Given the description of an element on the screen output the (x, y) to click on. 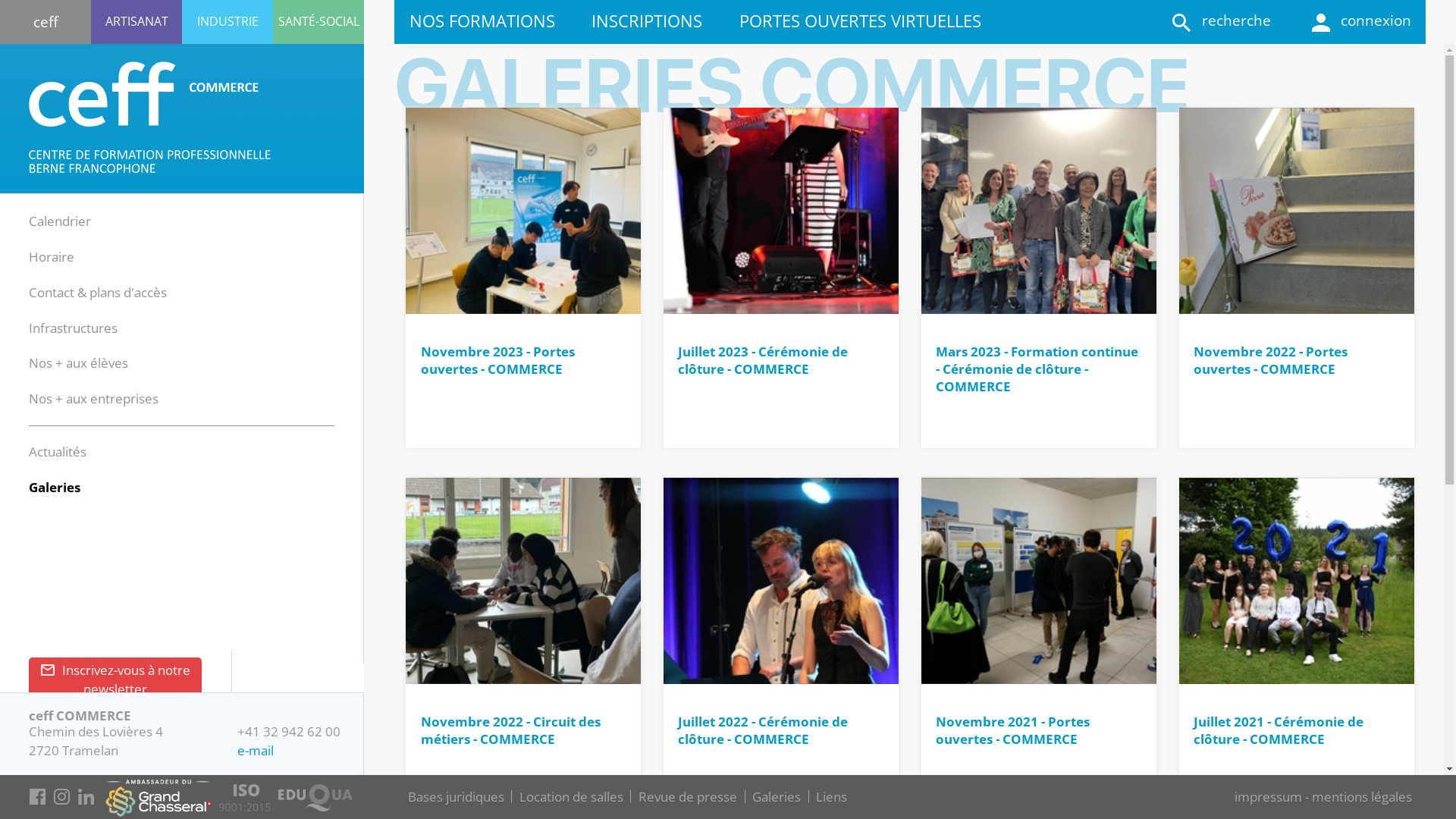
Nos + aux entreprises Element type: text (93, 398)
LinkedIn Element type: text (85, 798)
Horaire Element type: text (51, 256)
Calendrier Element type: text (59, 220)
se rendre sur le site du Grand Chasseral Element type: hover (158, 794)
Revue de presse Element type: text (687, 796)
Location de salles Element type: text (571, 796)
Galeries Element type: text (776, 796)
PORTES OUVERTES VIRTUELLES Element type: text (860, 20)
Infrastructures Element type: text (72, 327)
Afficher le certificat EDUQUA du ceff Element type: hover (315, 791)
Afficher le certificat ISO 9001:2015 du ceff Element type: hover (244, 791)
impressum Element type: text (1268, 796)
Bases juridiques Element type: text (455, 796)
facebook Element type: text (36, 798)
Galeries Element type: text (54, 486)
Liens Element type: text (831, 796)
e-mail Element type: text (255, 750)
instagram Element type: text (61, 798)
